Given the description of an element on the screen output the (x, y) to click on. 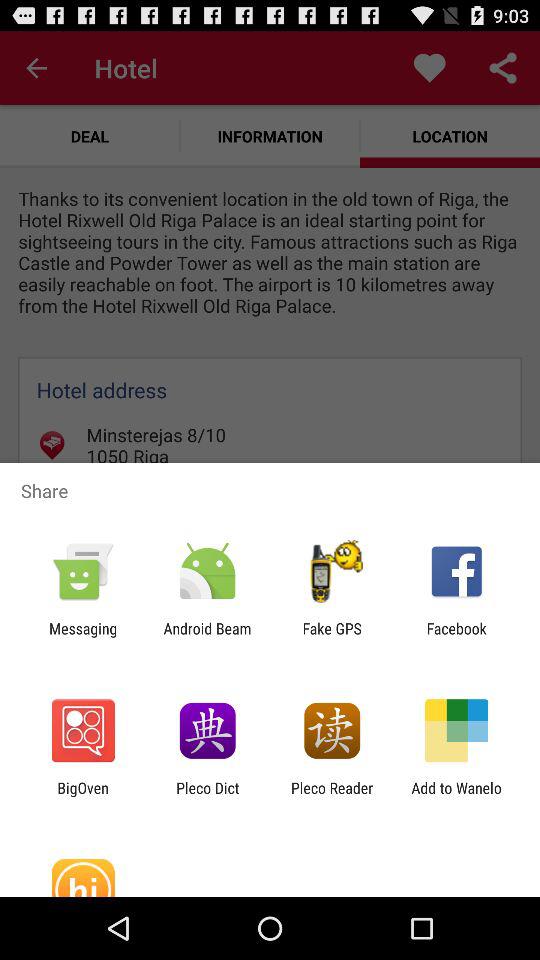
press the app to the left of the android beam app (83, 637)
